Given the description of an element on the screen output the (x, y) to click on. 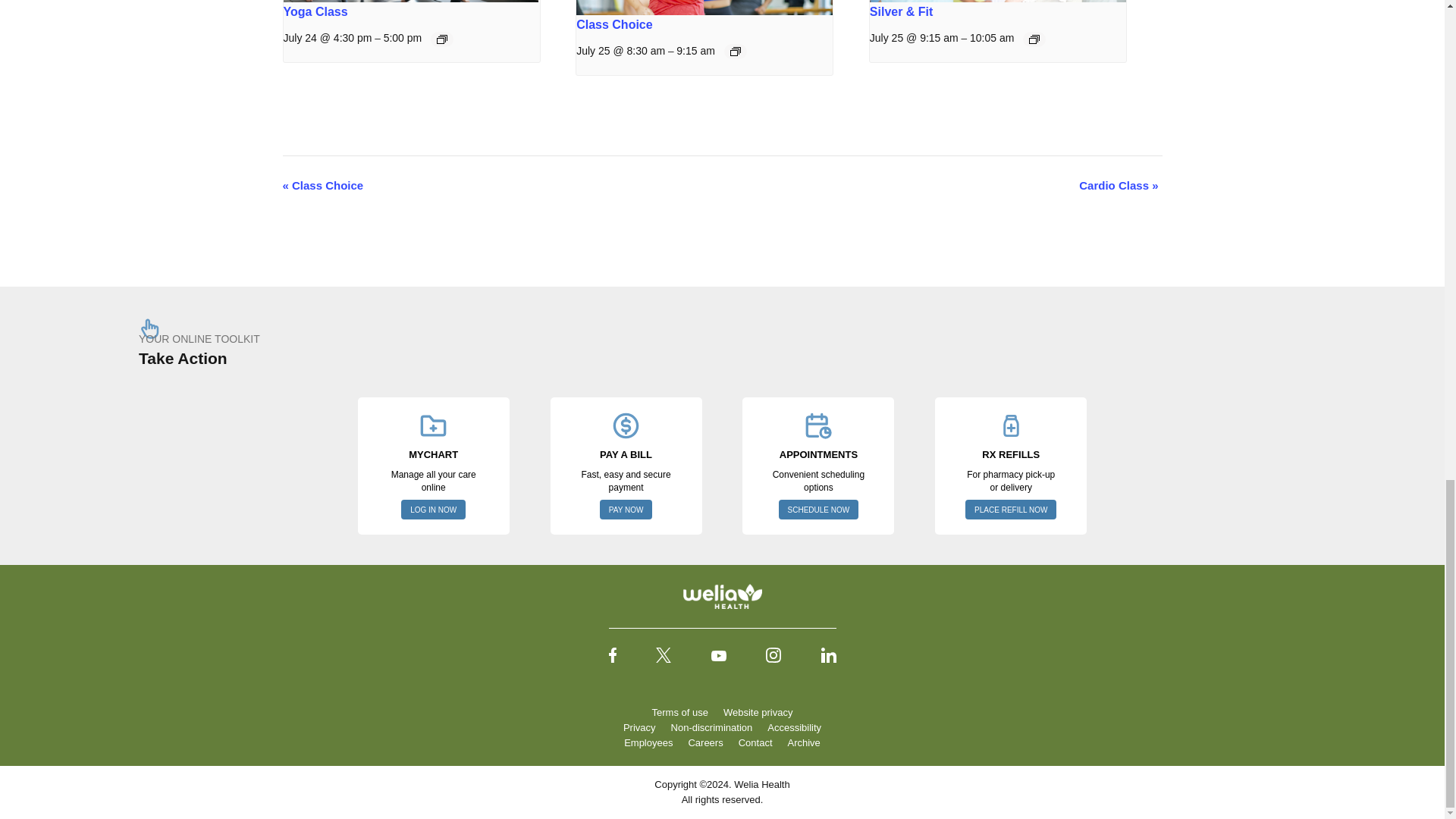
Event Series (441, 39)
Event Series (1034, 39)
Event Series (735, 51)
